Given the description of an element on the screen output the (x, y) to click on. 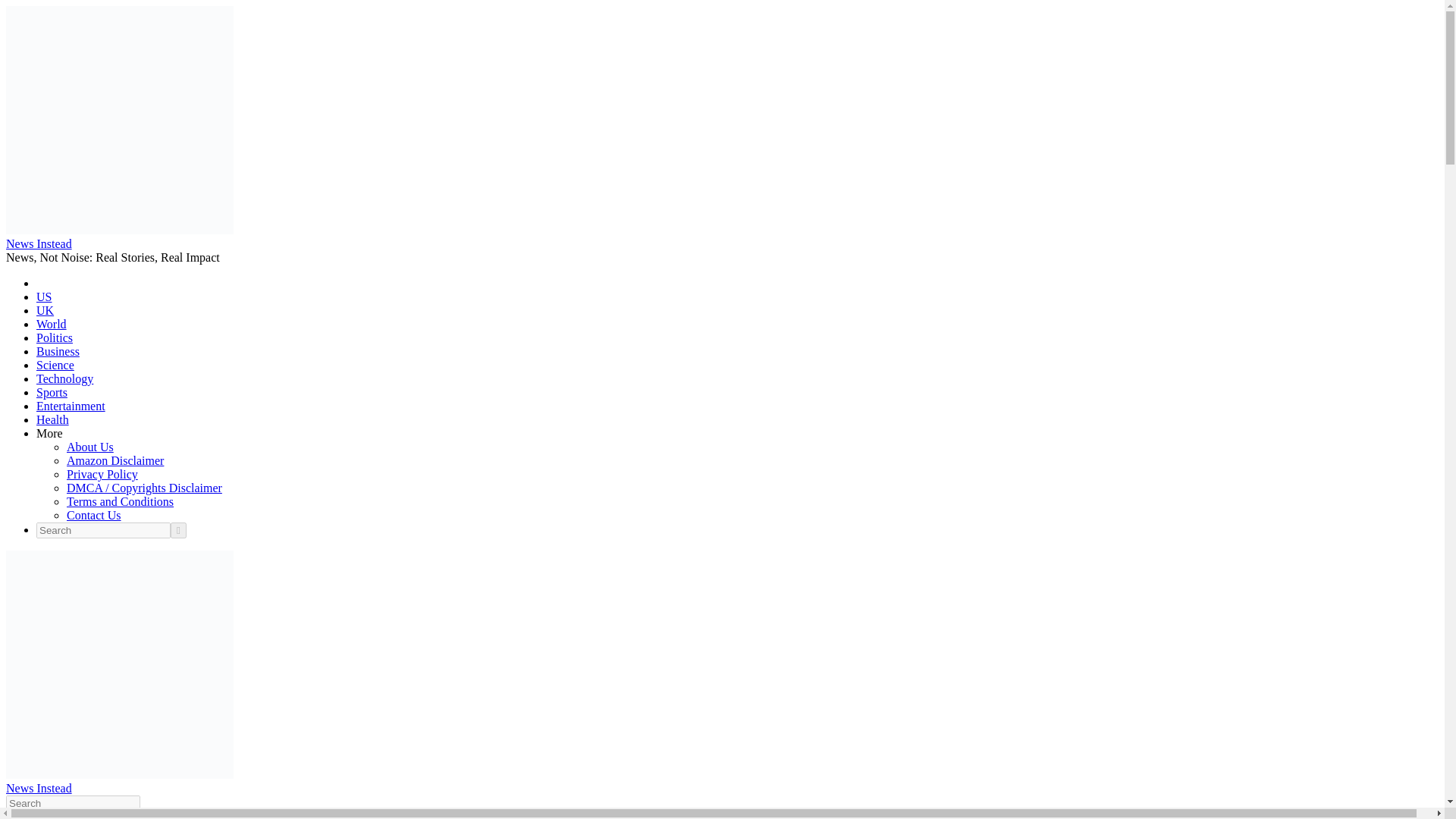
Amazon Disclaimer (114, 460)
Sports (51, 391)
World (51, 323)
Health (52, 419)
Technology (64, 378)
Politics (54, 337)
More (49, 432)
Business (58, 350)
News Instead (38, 788)
Science (55, 364)
